Given the description of an element on the screen output the (x, y) to click on. 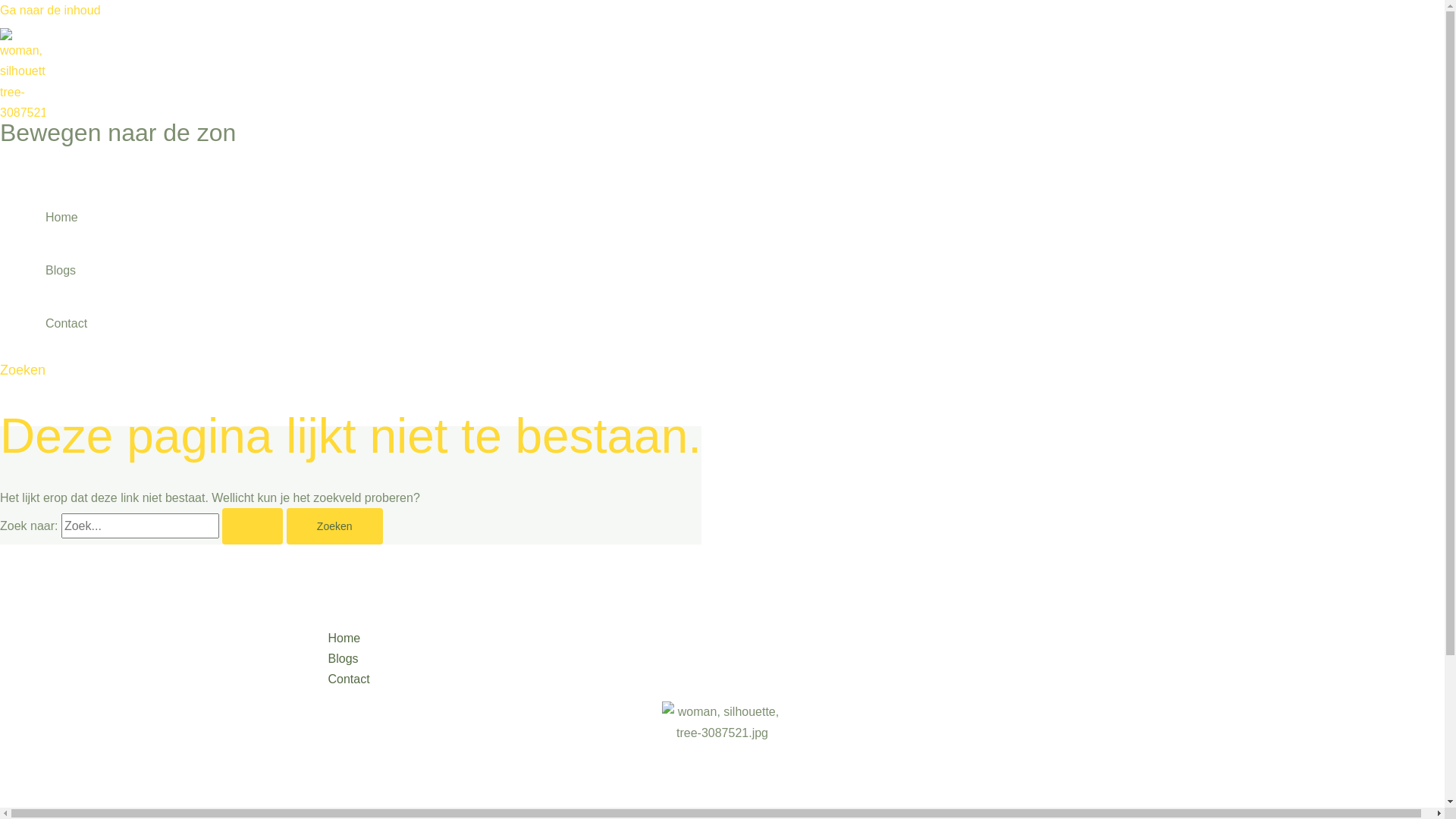
Home Element type: text (66, 217)
Ga naar de inhoud Element type: text (50, 9)
Blogs Element type: text (66, 270)
Contact Element type: text (751, 678)
Blogs Element type: text (751, 658)
Zoeken Element type: text (334, 526)
Contact Element type: text (66, 323)
Home Element type: text (751, 637)
Zoeken Element type: text (22, 370)
